Given the description of an element on the screen output the (x, y) to click on. 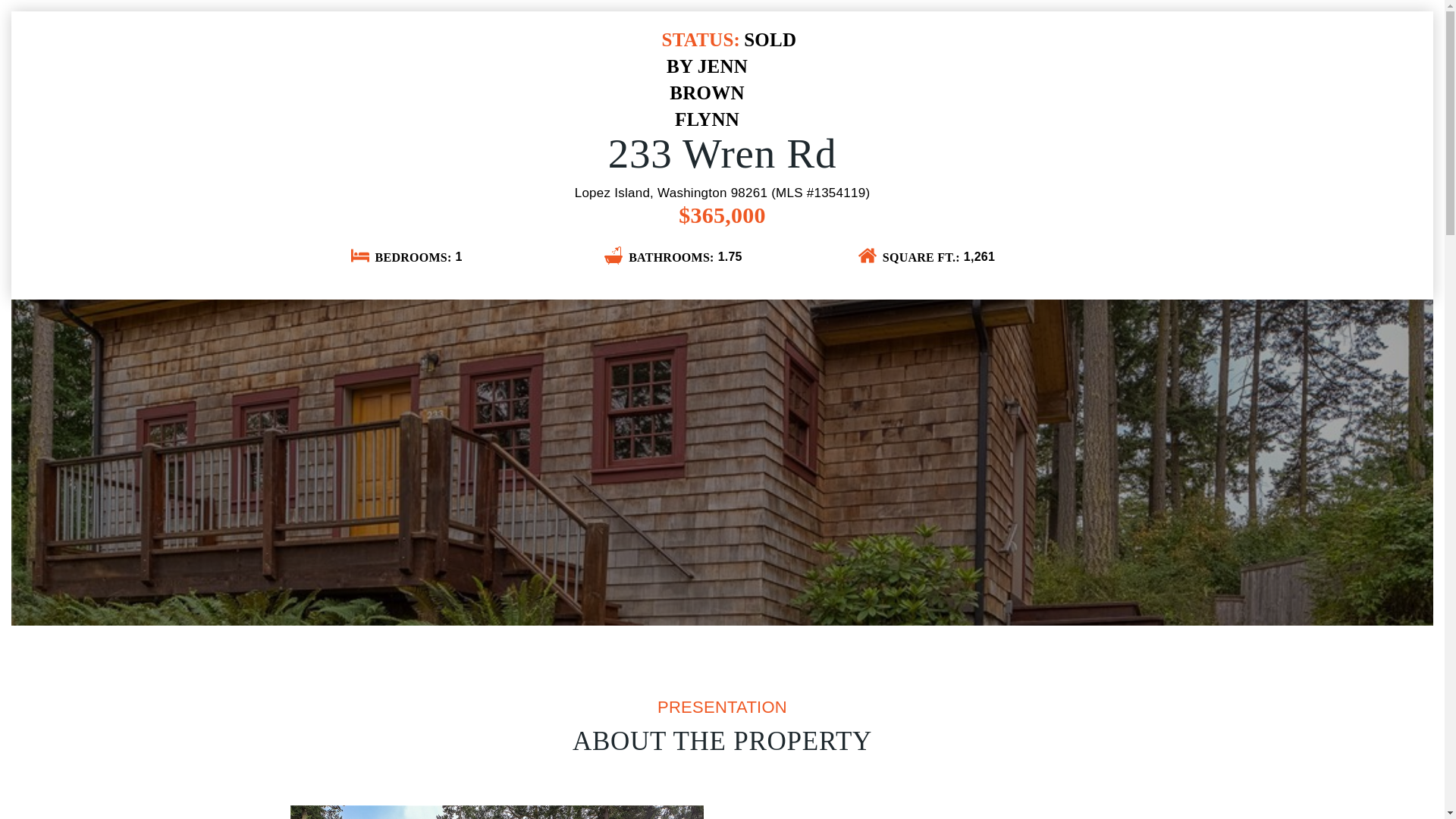
BUYERS (945, 29)
FEATURED COMMUNITIES (1226, 29)
PROPERTIES (880, 28)
ABOUT (1100, 29)
SELLERS (1024, 29)
CONTACT (1356, 29)
